Given the description of an element on the screen output the (x, y) to click on. 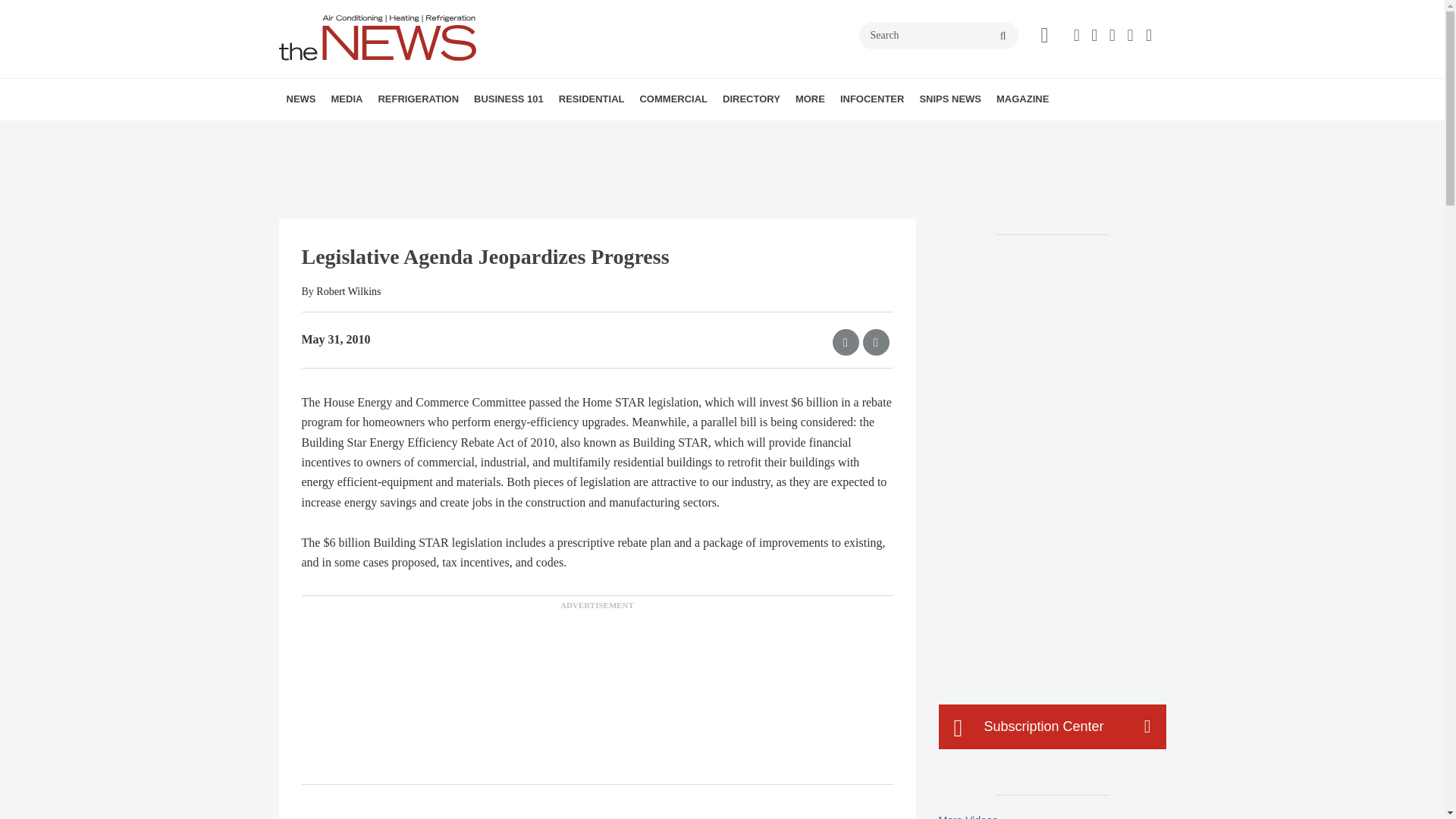
DUCTWORD PUZZLE (449, 132)
VIDEOS (417, 132)
Search (938, 35)
NEW HVAC PRODUCTS (380, 132)
search (1002, 36)
ONLINE POLL (452, 132)
WEBINARS (436, 132)
PODCASTS (430, 132)
AHR EXPO 2024 VIDEOS (424, 132)
BREAKING NEWS (373, 132)
FROSTLINES (478, 132)
THE NEWS HVACR QUIZ (445, 132)
MANUFACTURER REPORTS (386, 132)
REFRIGERANT REGULATIONS (472, 132)
NEWS (301, 98)
